Given the description of an element on the screen output the (x, y) to click on. 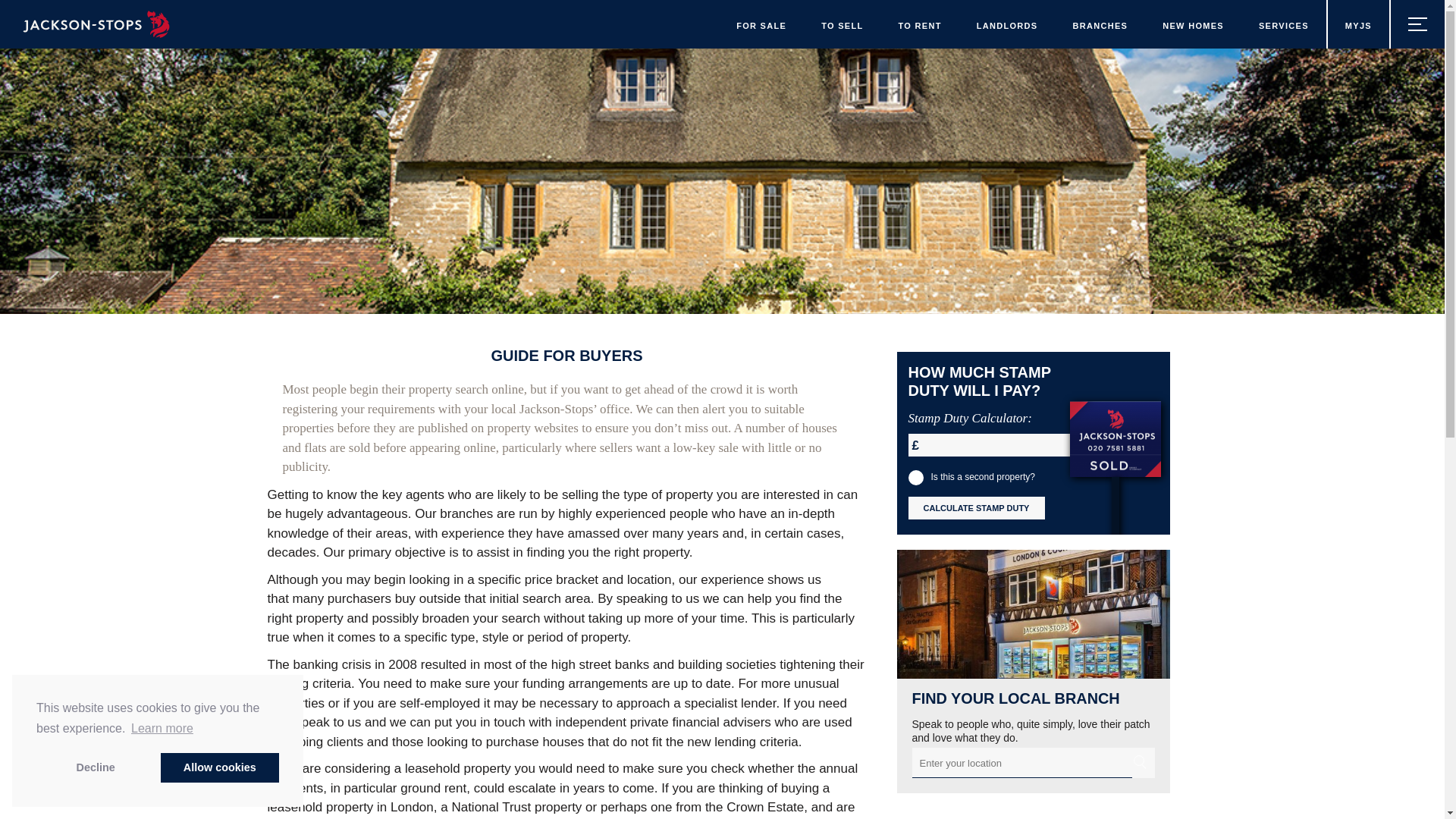
My Jackson-Stops (1357, 24)
MYJS (1357, 24)
To Rent (919, 24)
NEW HOMES (1192, 24)
SERVICES (1283, 24)
CALCULATE STAMP DUTY (976, 507)
To Sell (841, 24)
TO RENT (919, 24)
New Homes (1192, 24)
Services (1283, 24)
